Given the description of an element on the screen output the (x, y) to click on. 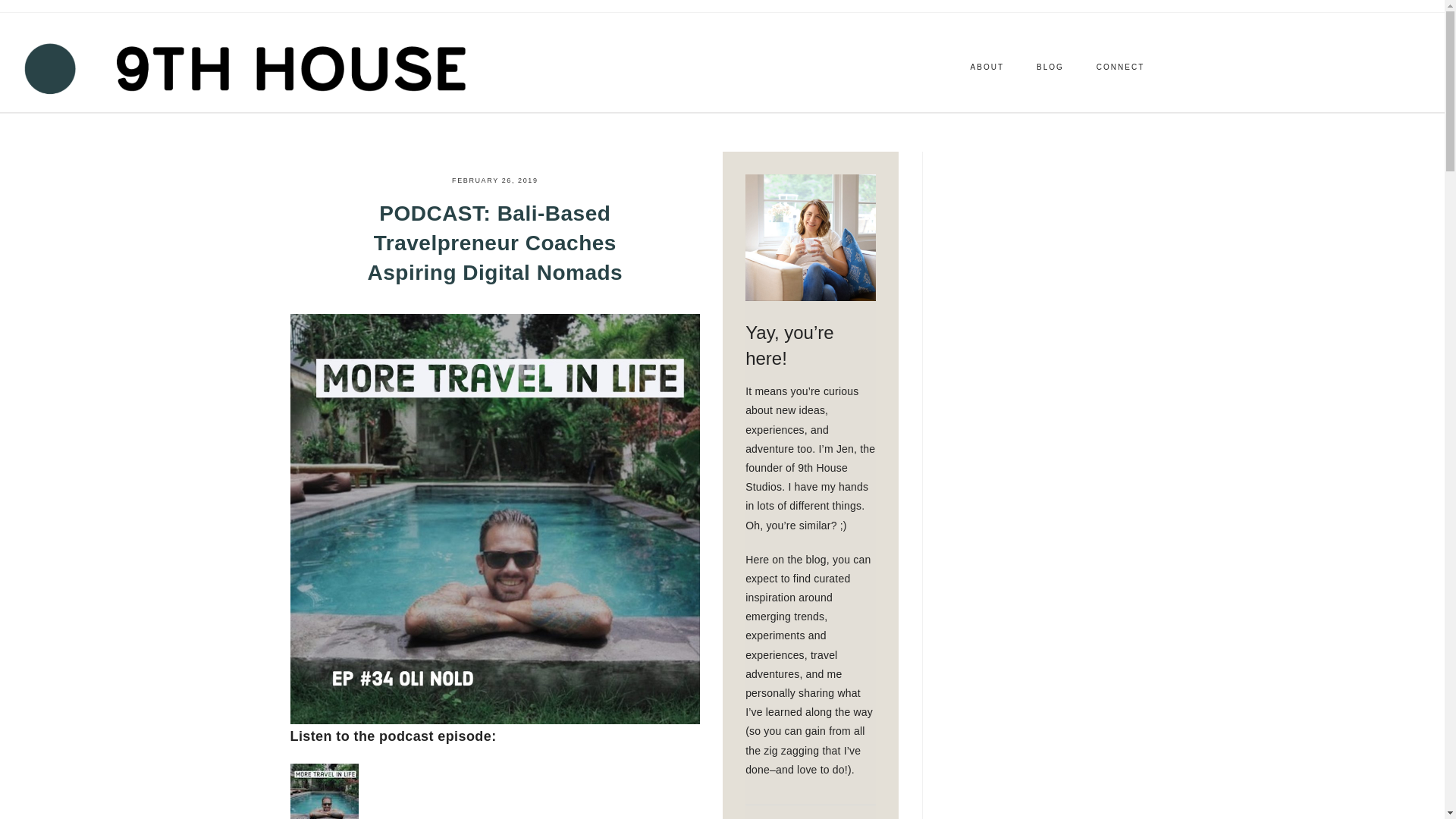
CONNECT (1119, 67)
BLOG (1050, 67)
ABOUT (987, 67)
FEBRUARY 26, 2019 (494, 180)
